Given the description of an element on the screen output the (x, y) to click on. 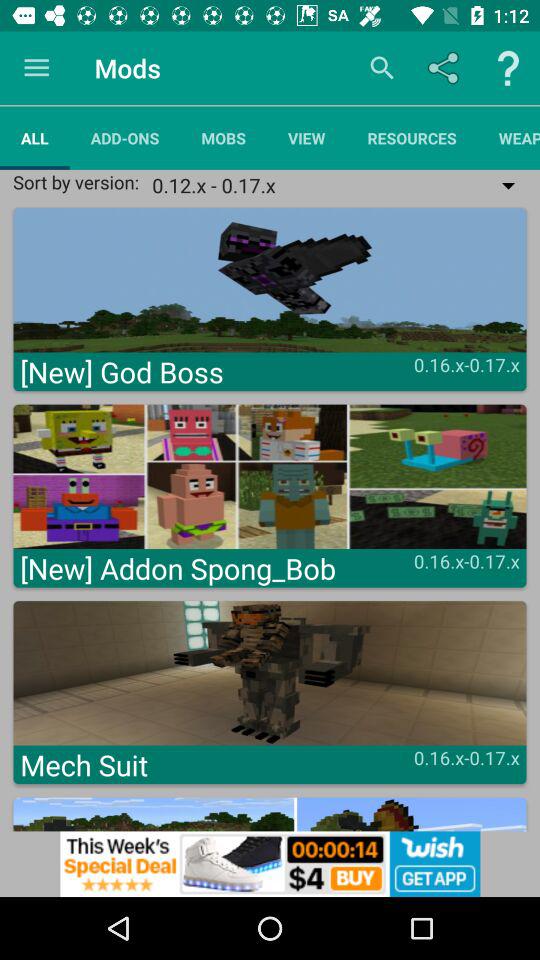
know about the advertisement (270, 864)
